Given the description of an element on the screen output the (x, y) to click on. 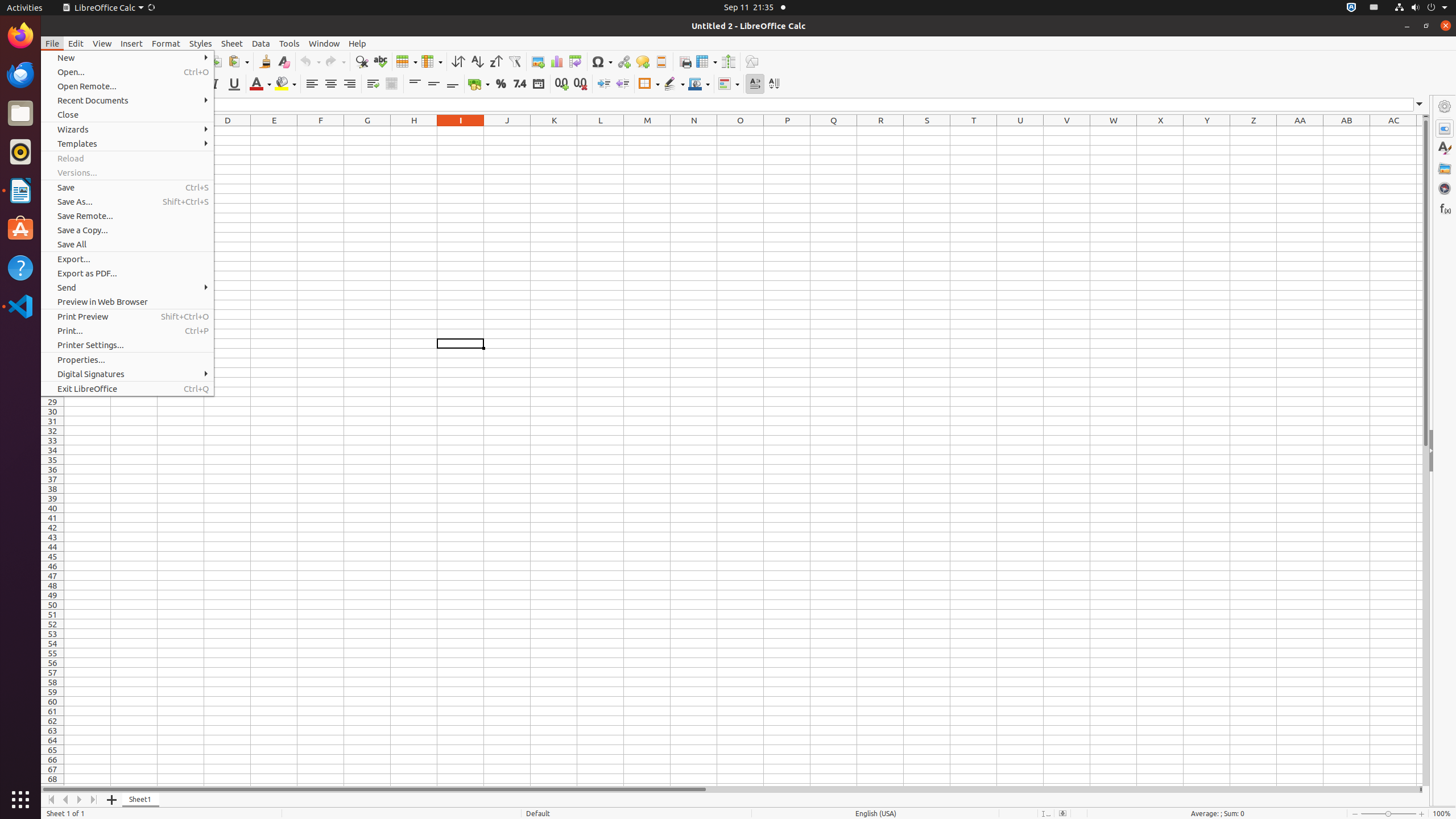
Sheet Element type: menu (231, 43)
Align Top Element type: push-button (414, 83)
X1 Element type: table-cell (1159, 130)
K1 Element type: table-cell (553, 130)
J1 Element type: table-cell (507, 130)
